Given the description of an element on the screen output the (x, y) to click on. 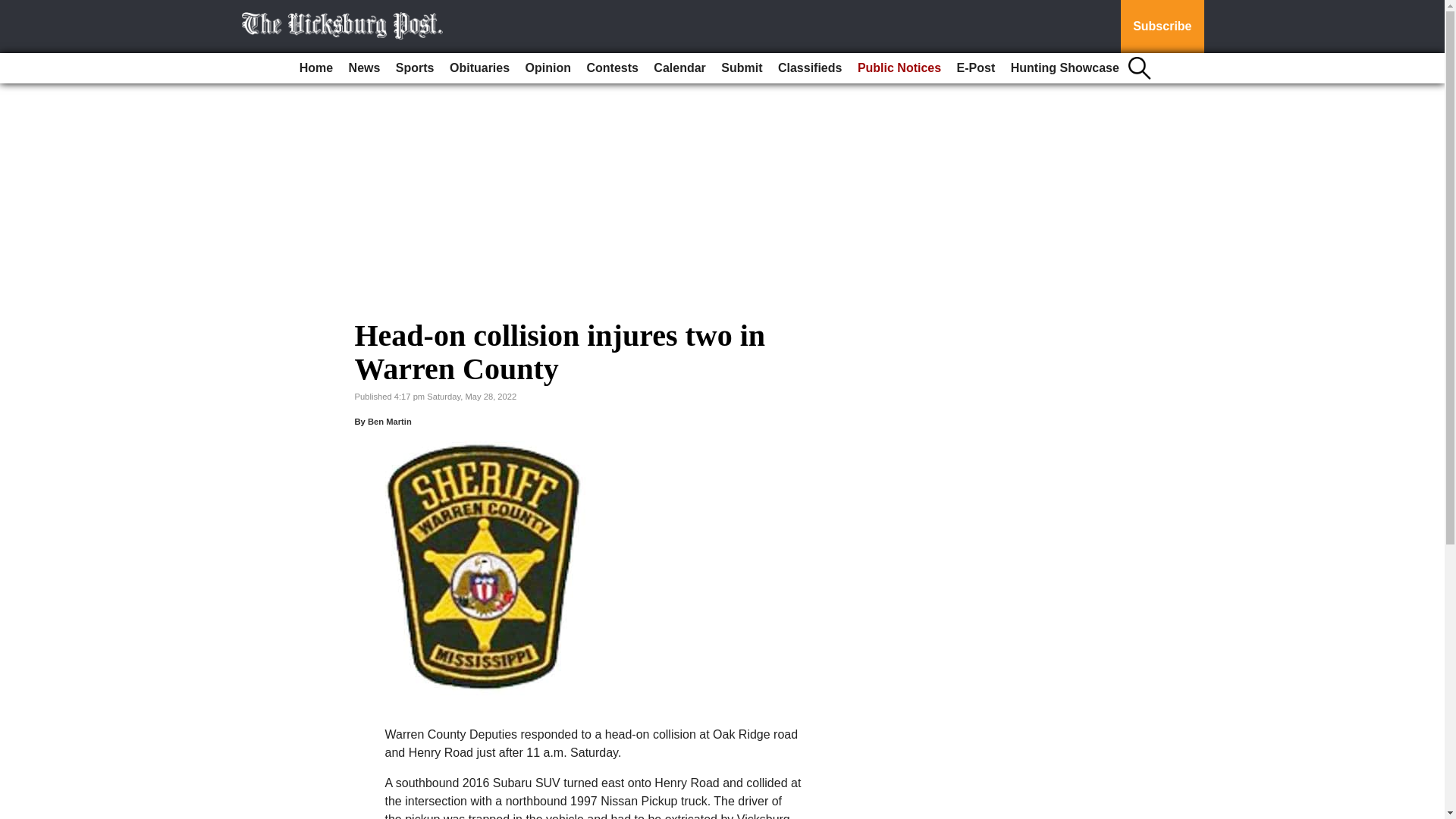
Classifieds (809, 68)
Calendar (679, 68)
Submit (741, 68)
E-Post (975, 68)
Home (316, 68)
Ben Martin (390, 420)
Subscribe (1162, 26)
Sports (415, 68)
Opinion (547, 68)
Public Notices (899, 68)
